Given the description of an element on the screen output the (x, y) to click on. 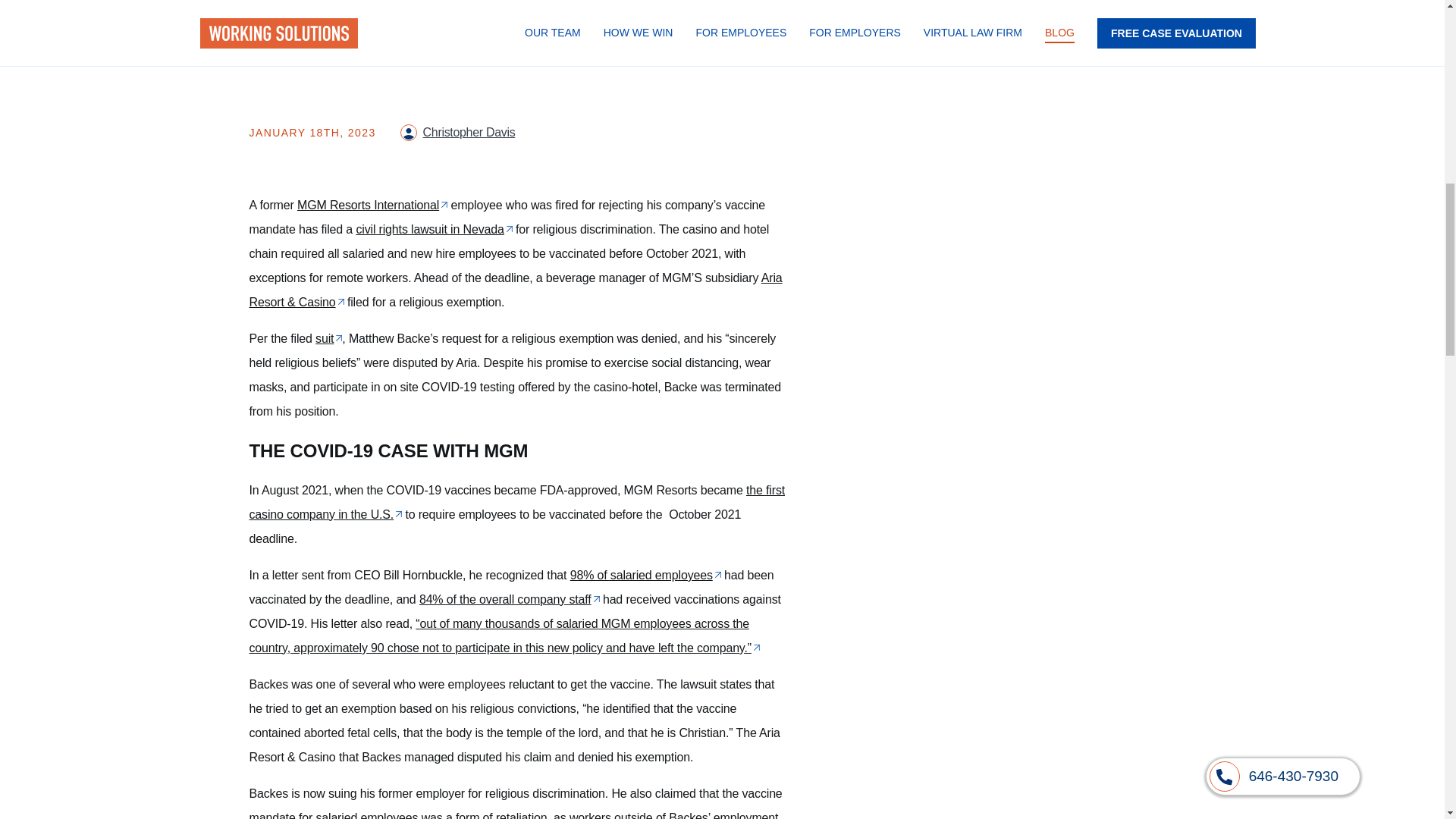
civil rights lawsuit in Nevada (433, 228)
suit (328, 338)
MGM Resorts International (371, 205)
Christopher Davis (469, 132)
the first casino company in the U.S. (516, 502)
